Given the description of an element on the screen output the (x, y) to click on. 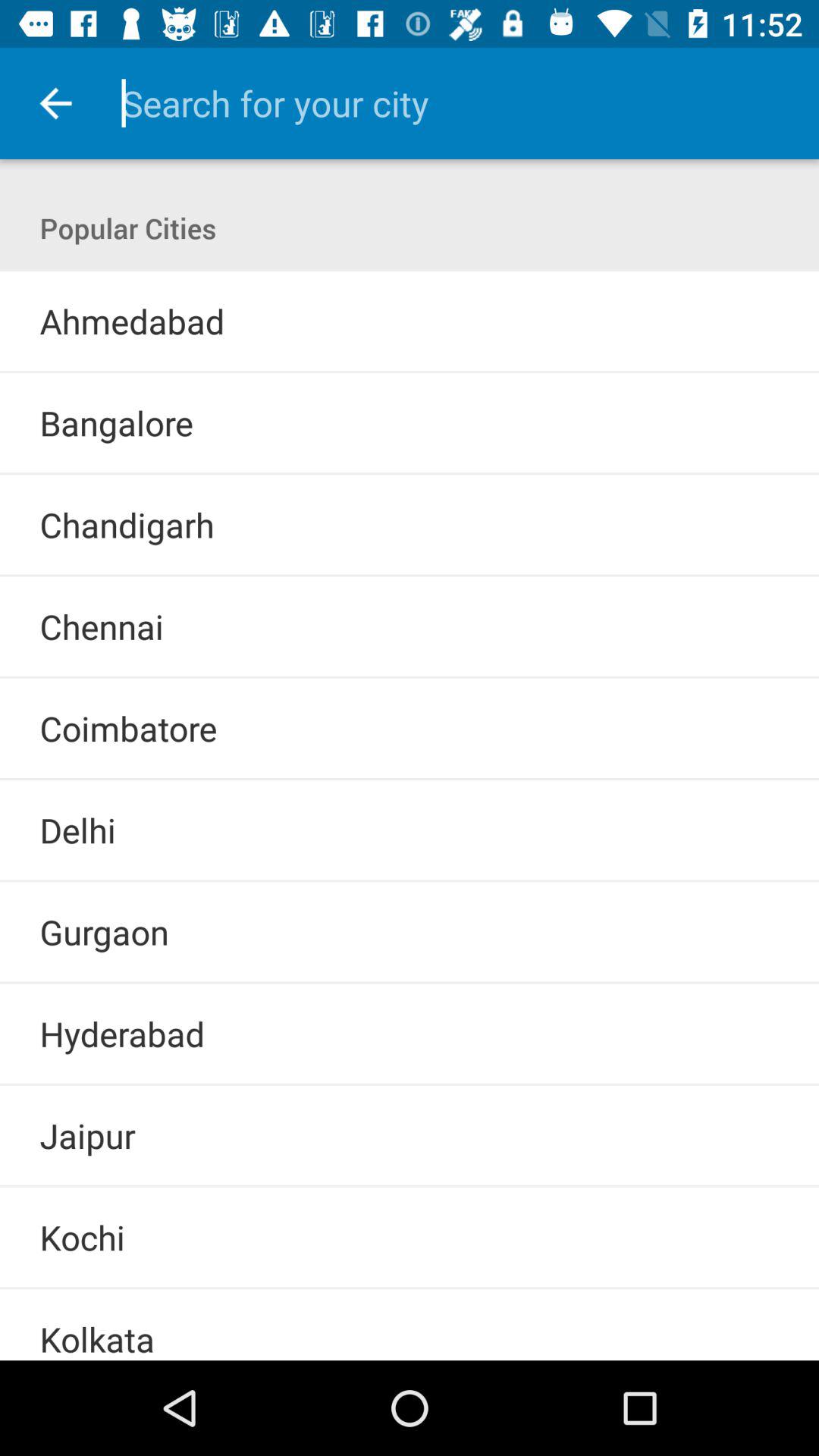
choose item above kochi item (409, 1186)
